Given the description of an element on the screen output the (x, y) to click on. 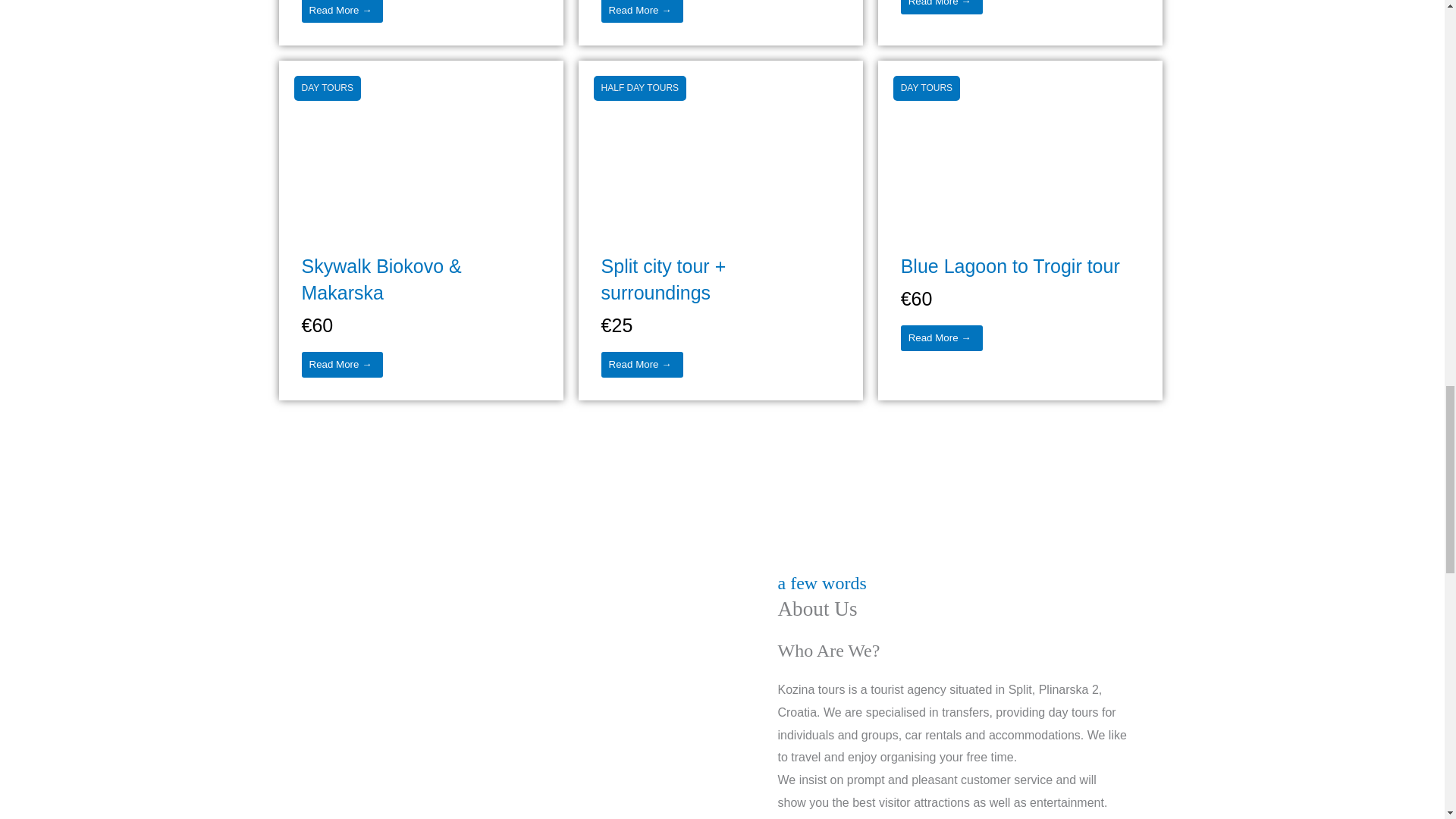
Blue Lagoon to Trogir tour (1019, 144)
